Given the description of an element on the screen output the (x, y) to click on. 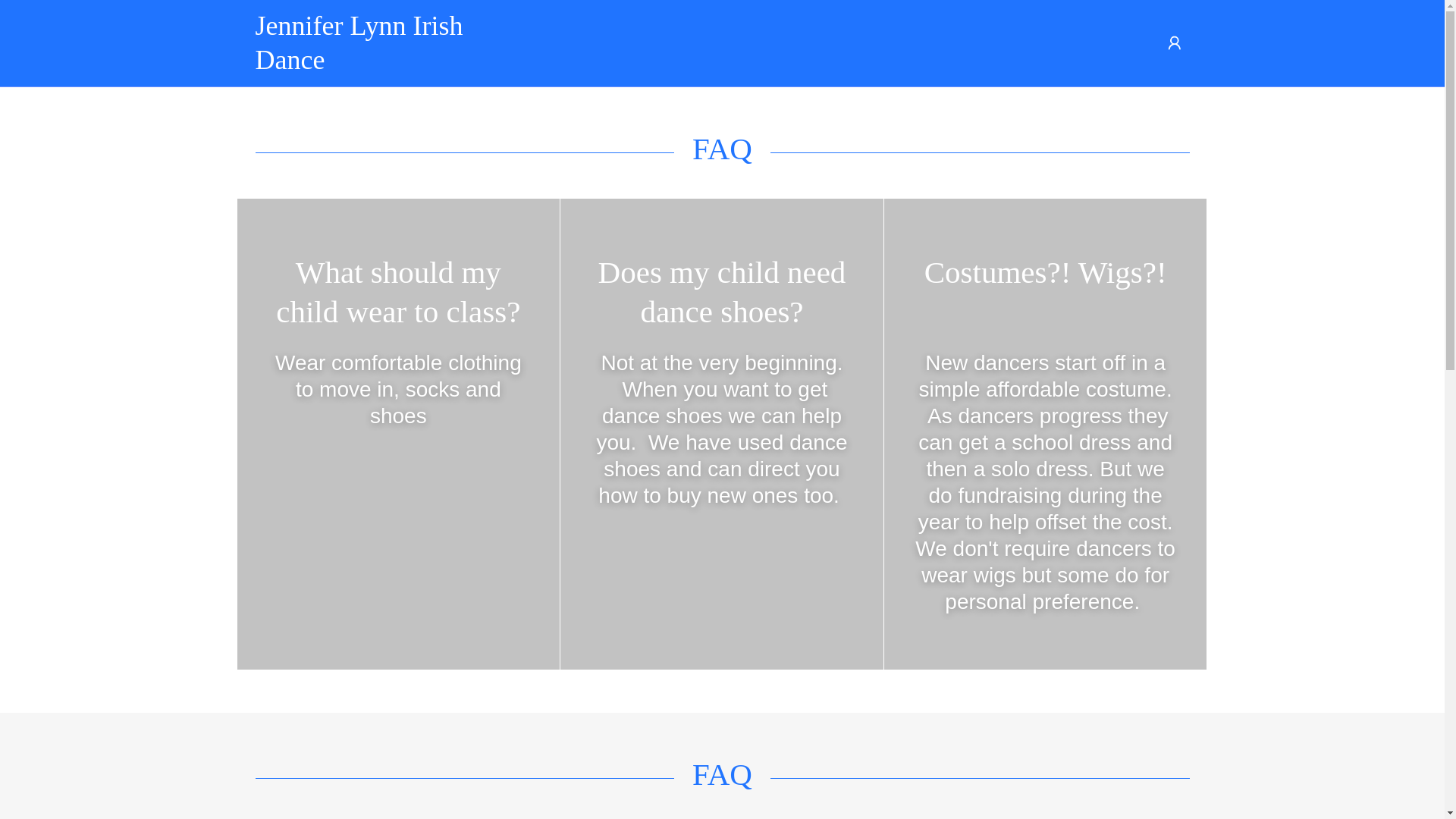
Jennifer Lynn Irish Dance (370, 63)
Jennifer Lynn Irish Dance (370, 63)
